Given the description of an element on the screen output the (x, y) to click on. 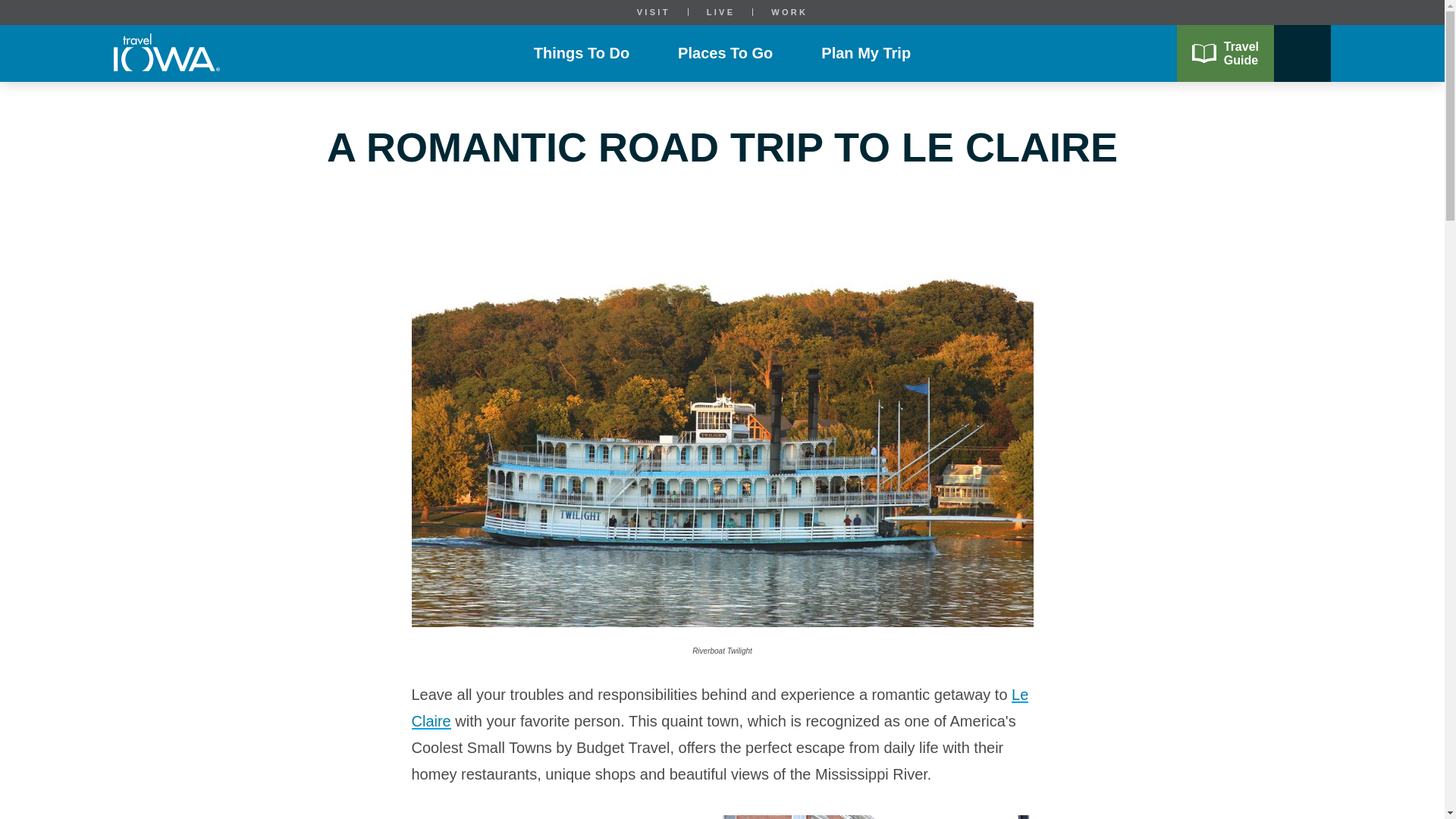
Places To Go (724, 53)
VISIT (653, 12)
Things To Do (581, 53)
Plan My Trip (865, 53)
LIVE (720, 12)
WORK (789, 12)
